Given the description of an element on the screen output the (x, y) to click on. 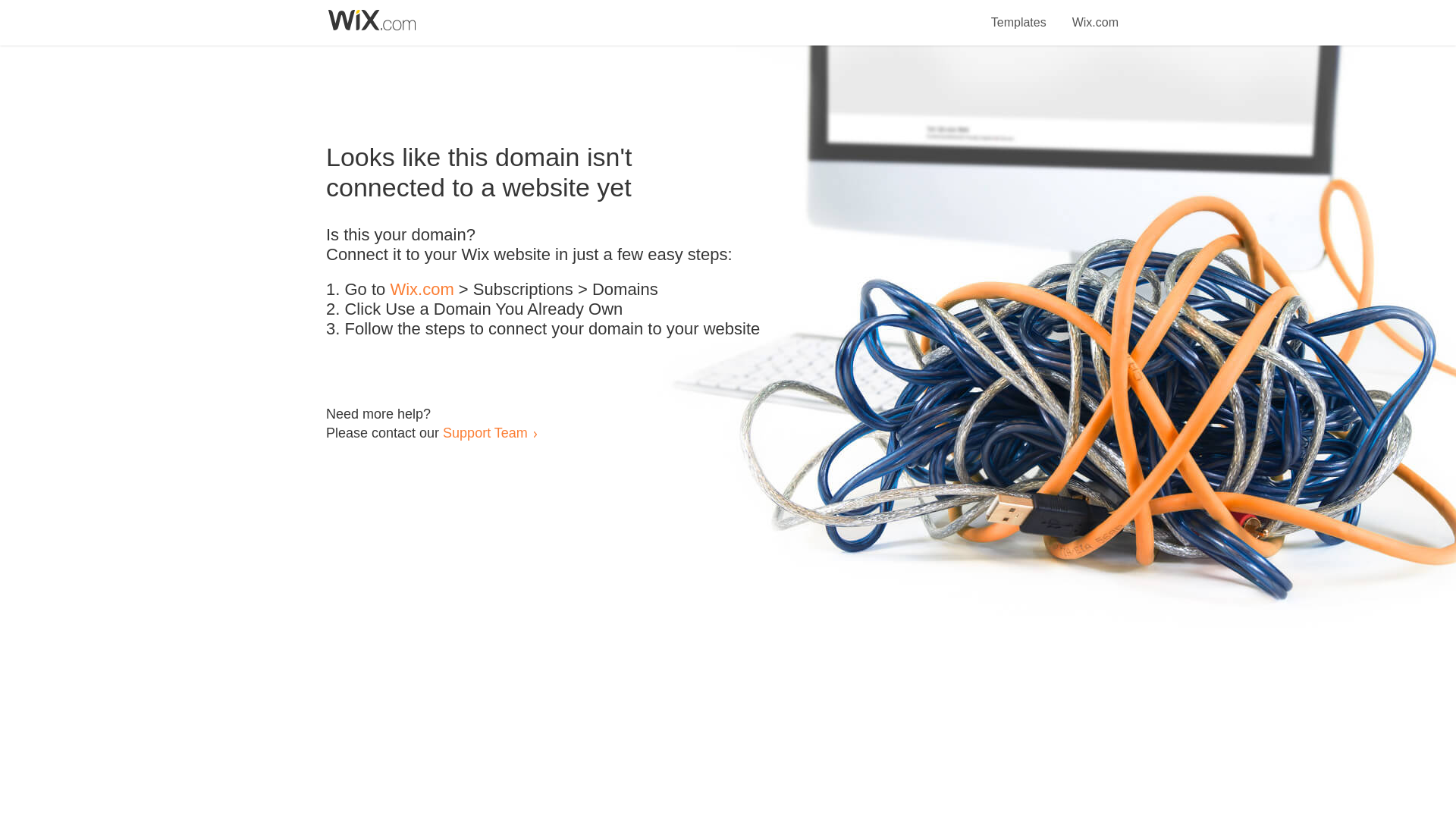
Wix.com (421, 289)
Wix.com (1095, 14)
Support Team (484, 432)
Templates (1018, 14)
